Given the description of an element on the screen output the (x, y) to click on. 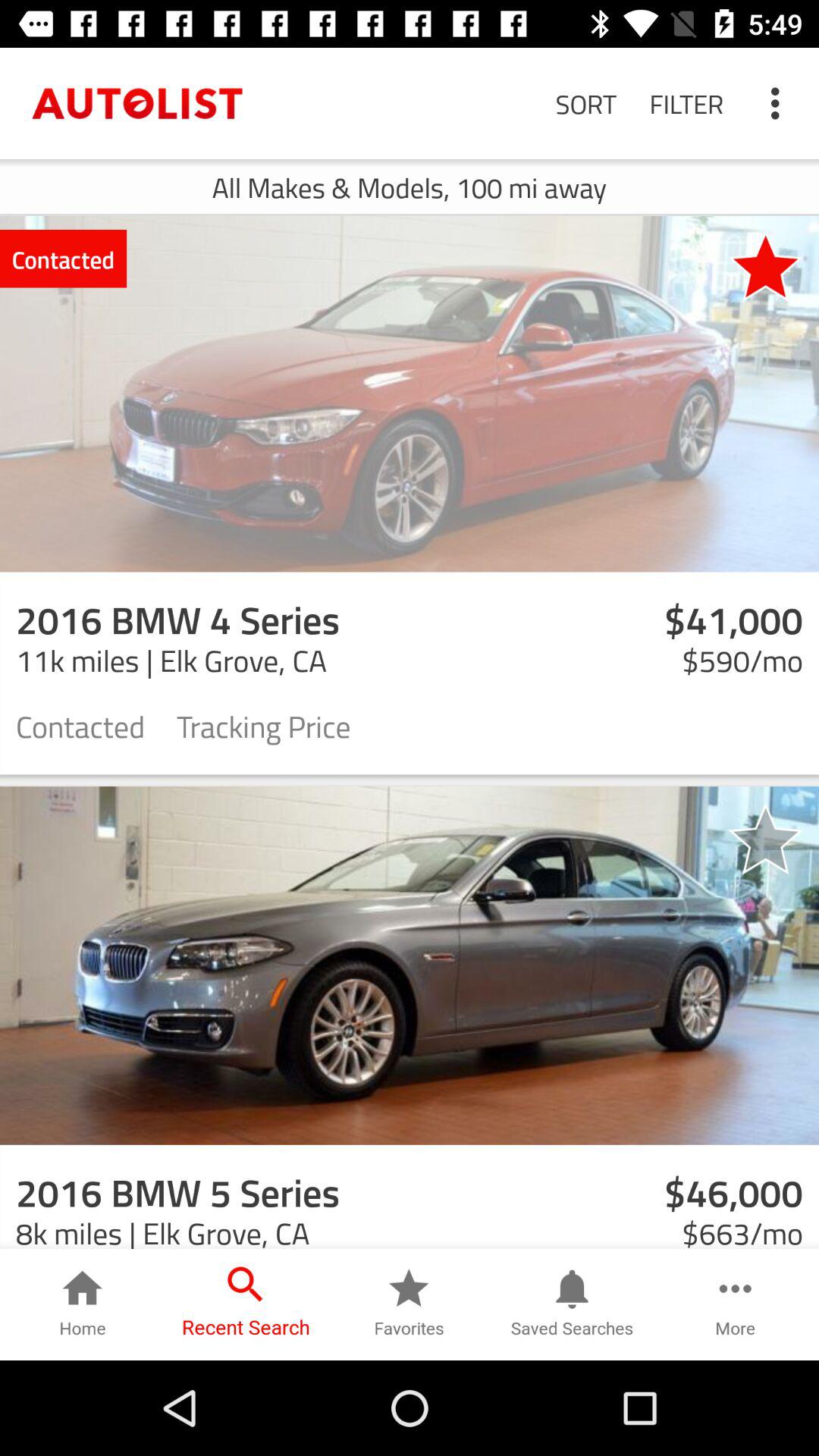
turn off the filter icon (686, 103)
